Given the description of an element on the screen output the (x, y) to click on. 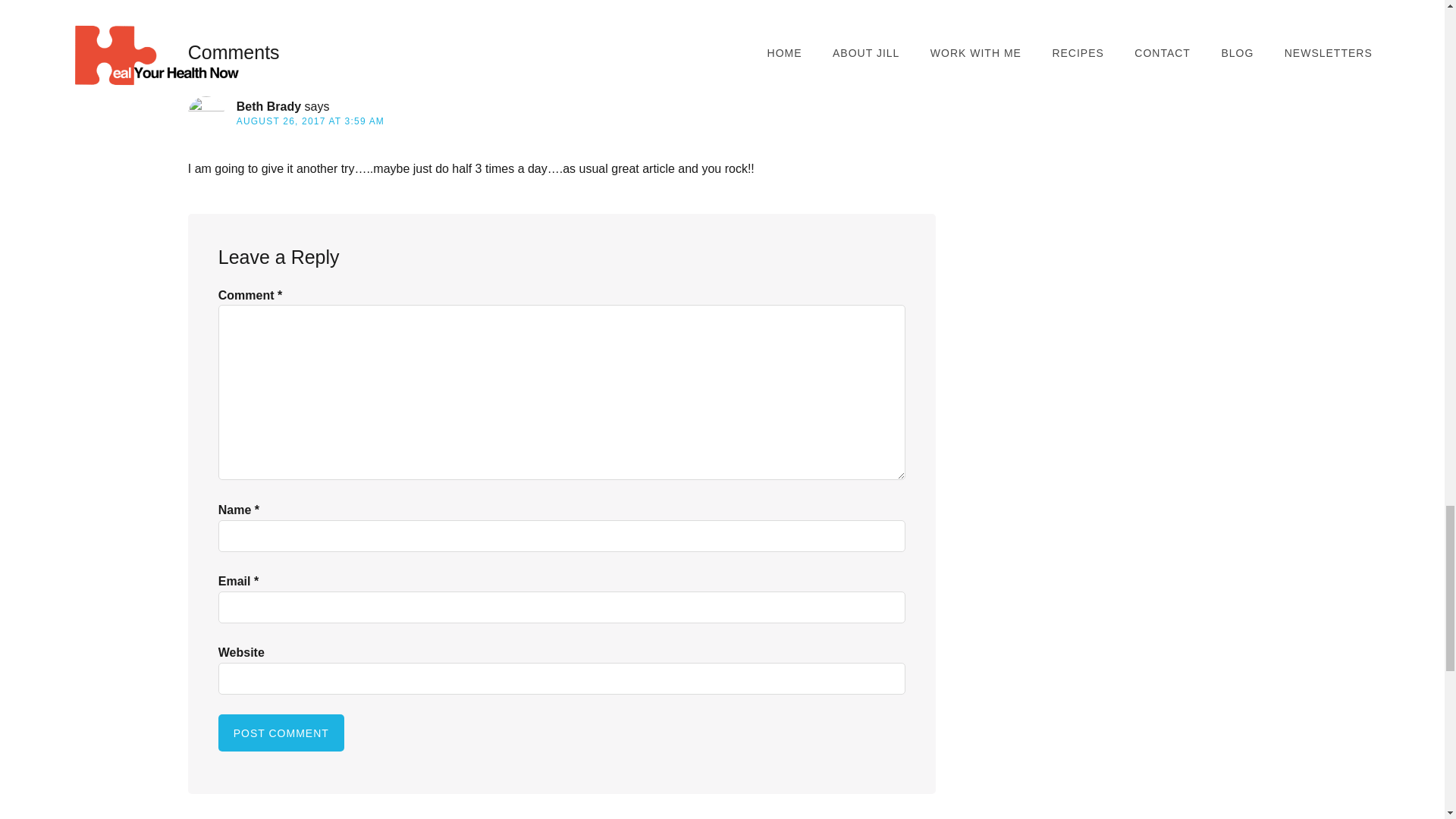
Post Comment (280, 732)
AUGUST 26, 2017 AT 3:59 AM (309, 121)
Post Comment (280, 732)
